Given the description of an element on the screen output the (x, y) to click on. 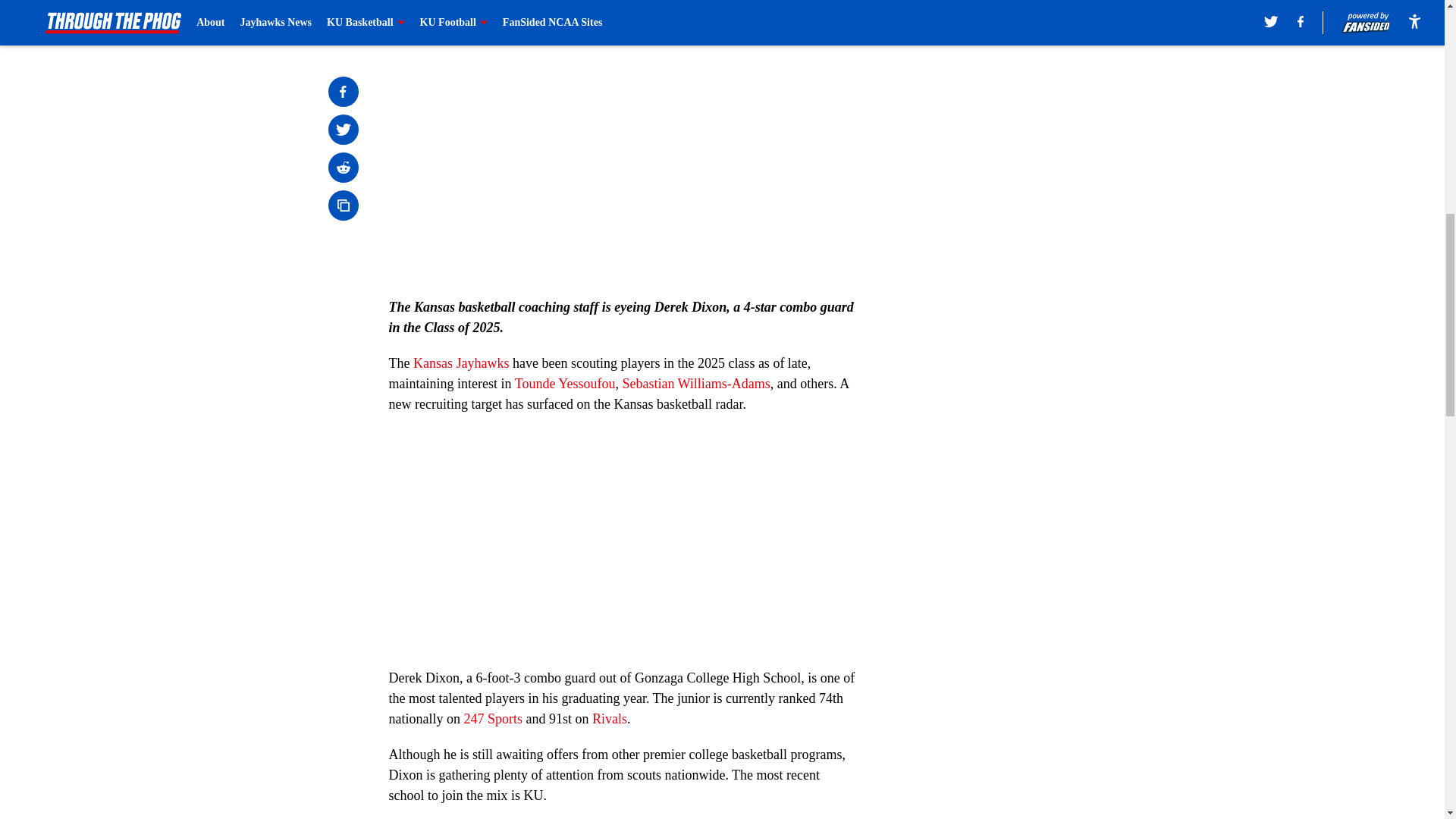
247 Sports (492, 718)
Sebastian Williams-Adams (695, 383)
Tounde Yessoufou (565, 383)
Rivals (609, 718)
Kansas Jayhawks (460, 363)
